Given the description of an element on the screen output the (x, y) to click on. 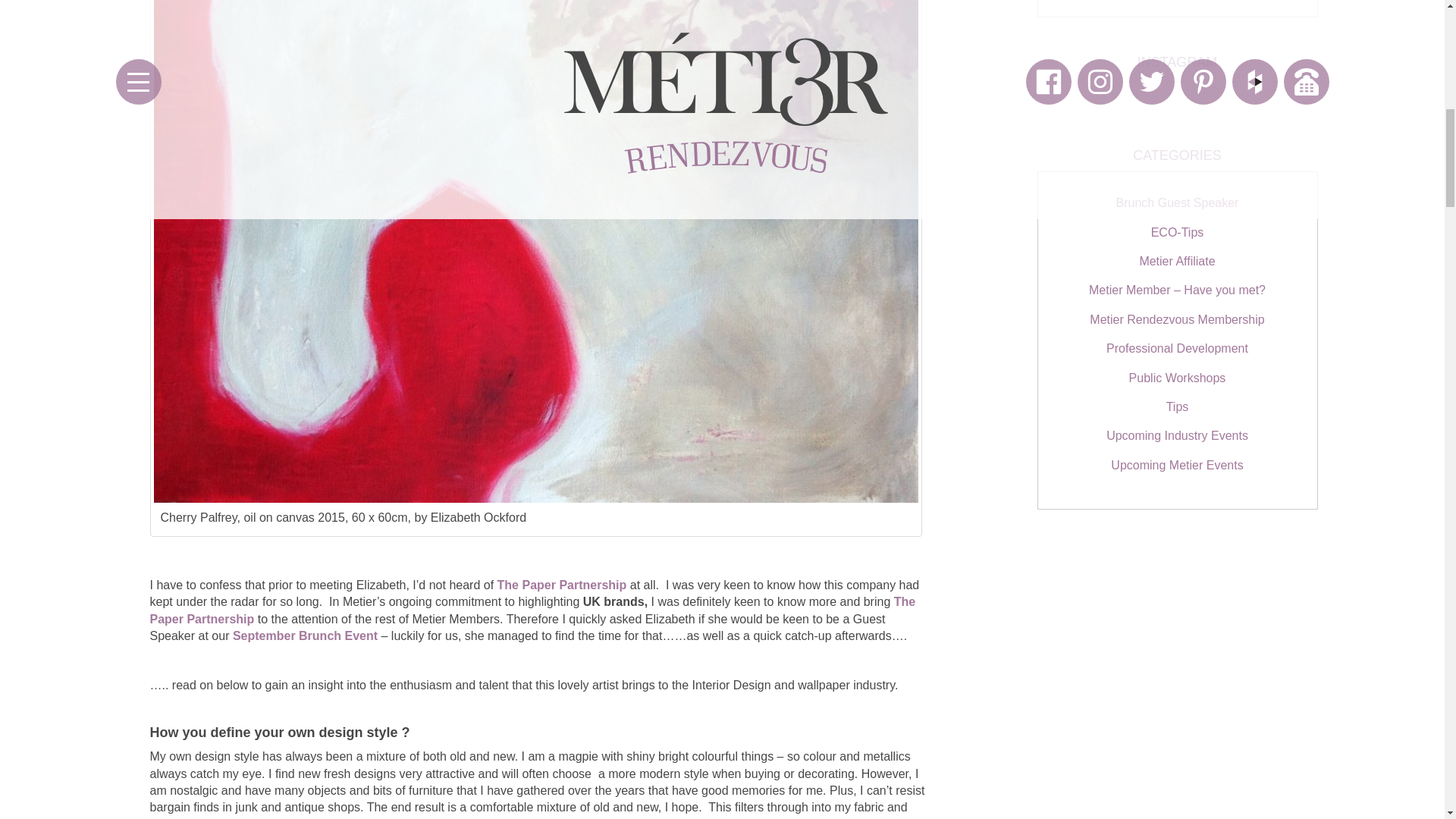
The Paper Partnership (532, 609)
September Brunch Event (304, 635)
he Paper Partnership (564, 584)
